Given the description of an element on the screen output the (x, y) to click on. 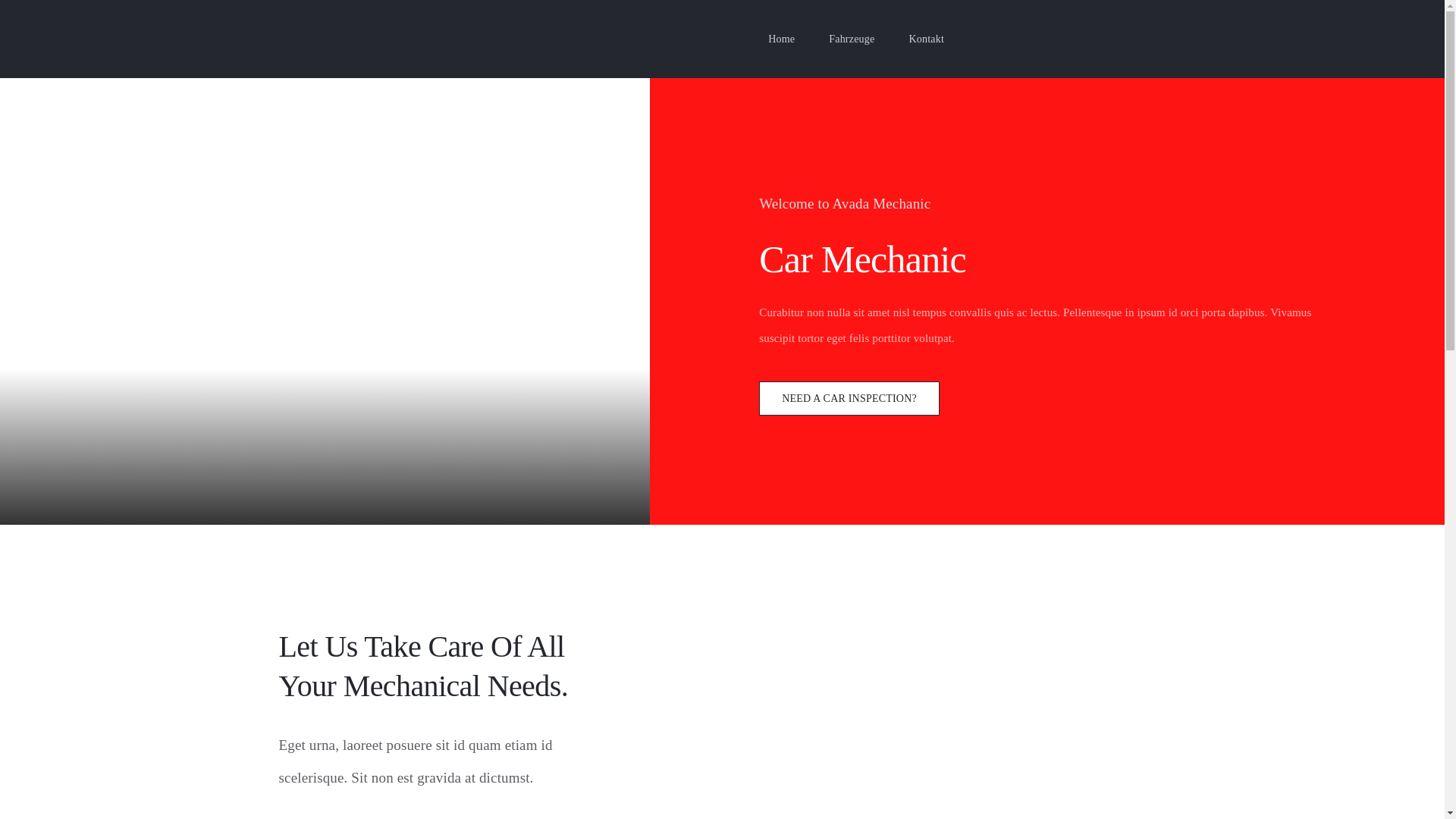
Kontakt Element type: text (926, 39)
Home Element type: text (781, 39)
NEED A CAR INSPECTION? Element type: text (849, 398)
Fahrzeuge Element type: text (851, 39)
